Given the description of an element on the screen output the (x, y) to click on. 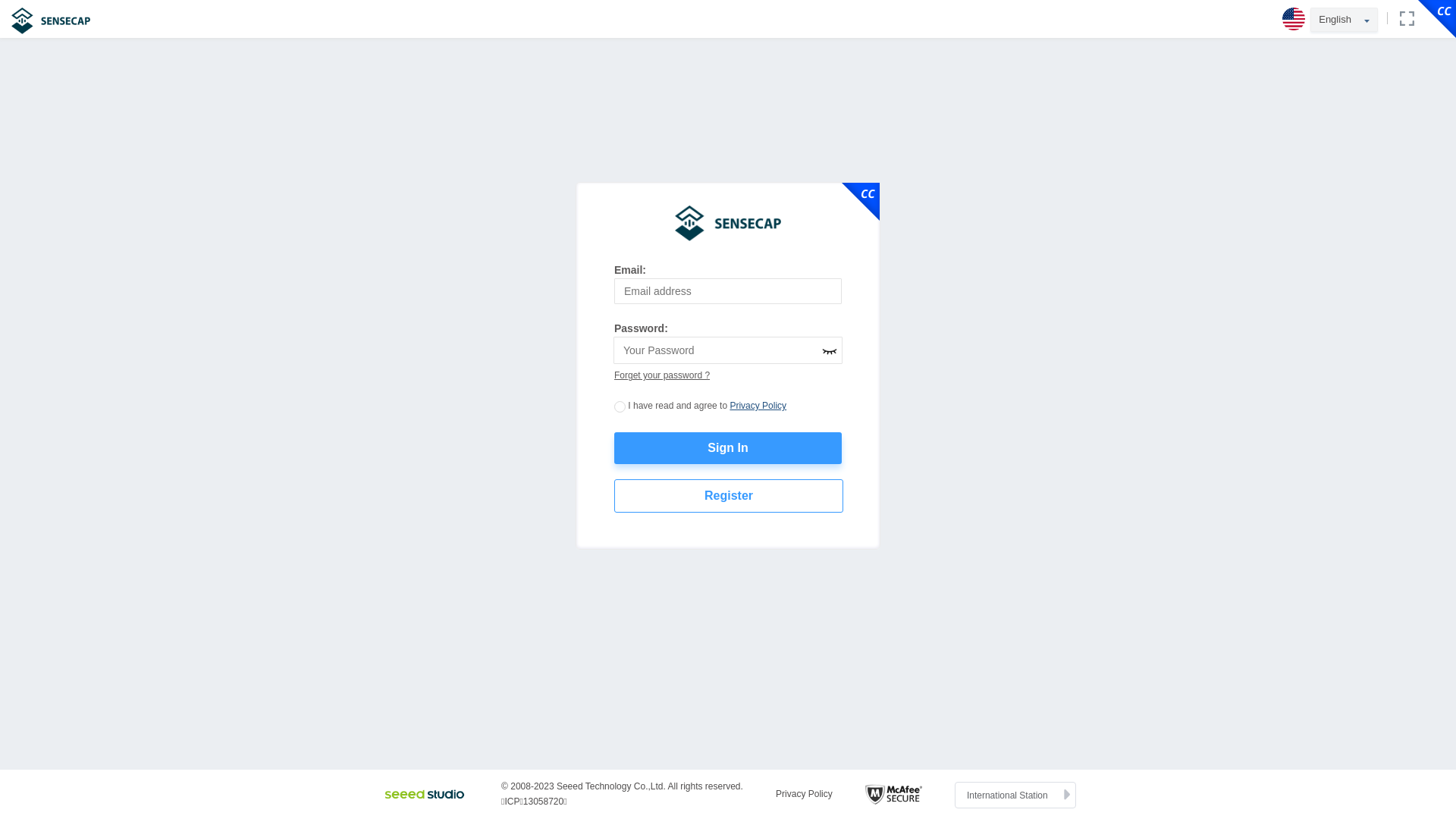
Privacy Policy Element type: text (803, 793)
Privacy Policy Element type: text (757, 405)
Register Element type: text (728, 495)
